Given the description of an element on the screen output the (x, y) to click on. 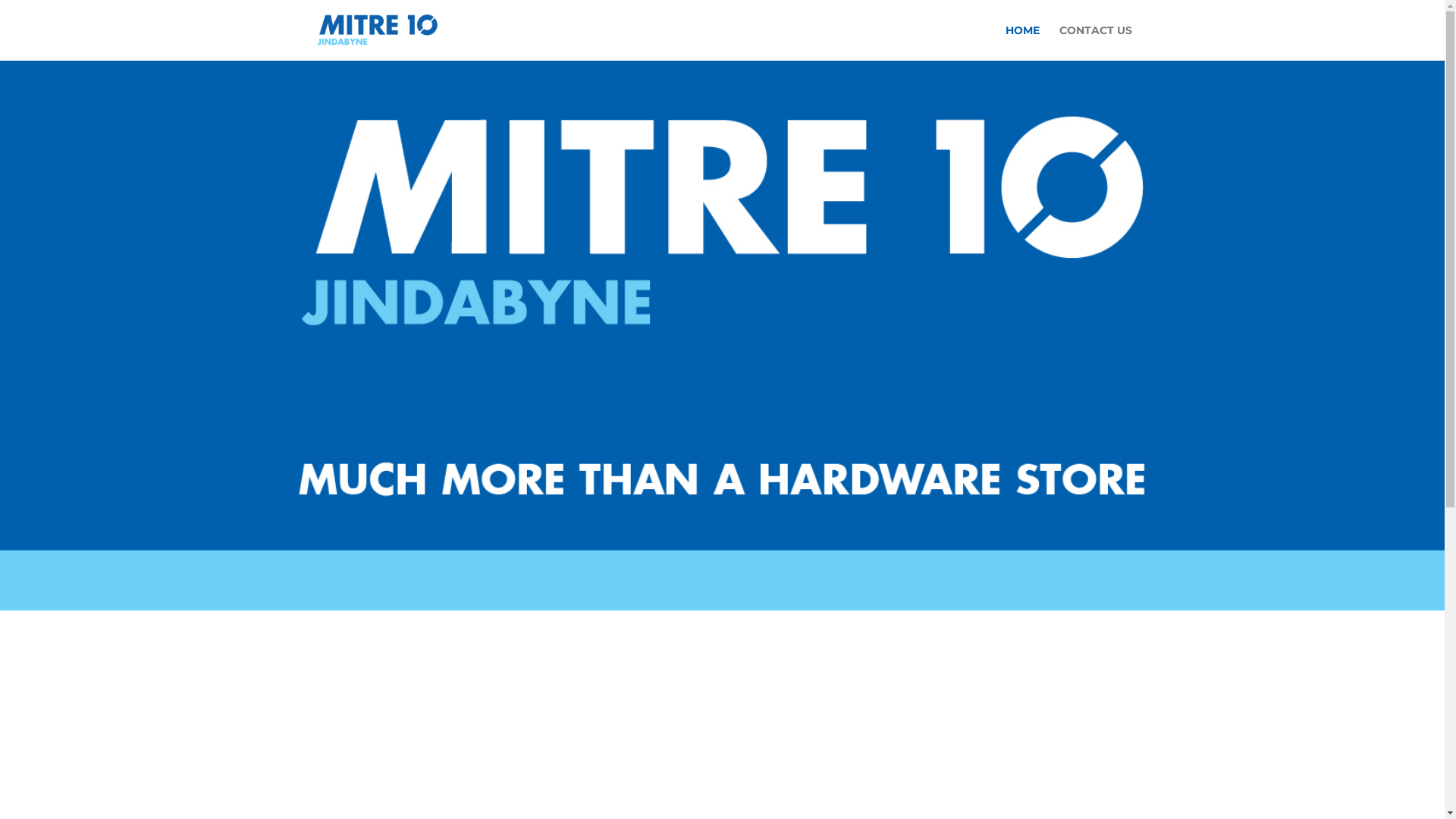
CONTACT US Element type: text (1094, 42)
HOME Element type: text (1022, 42)
